Given the description of an element on the screen output the (x, y) to click on. 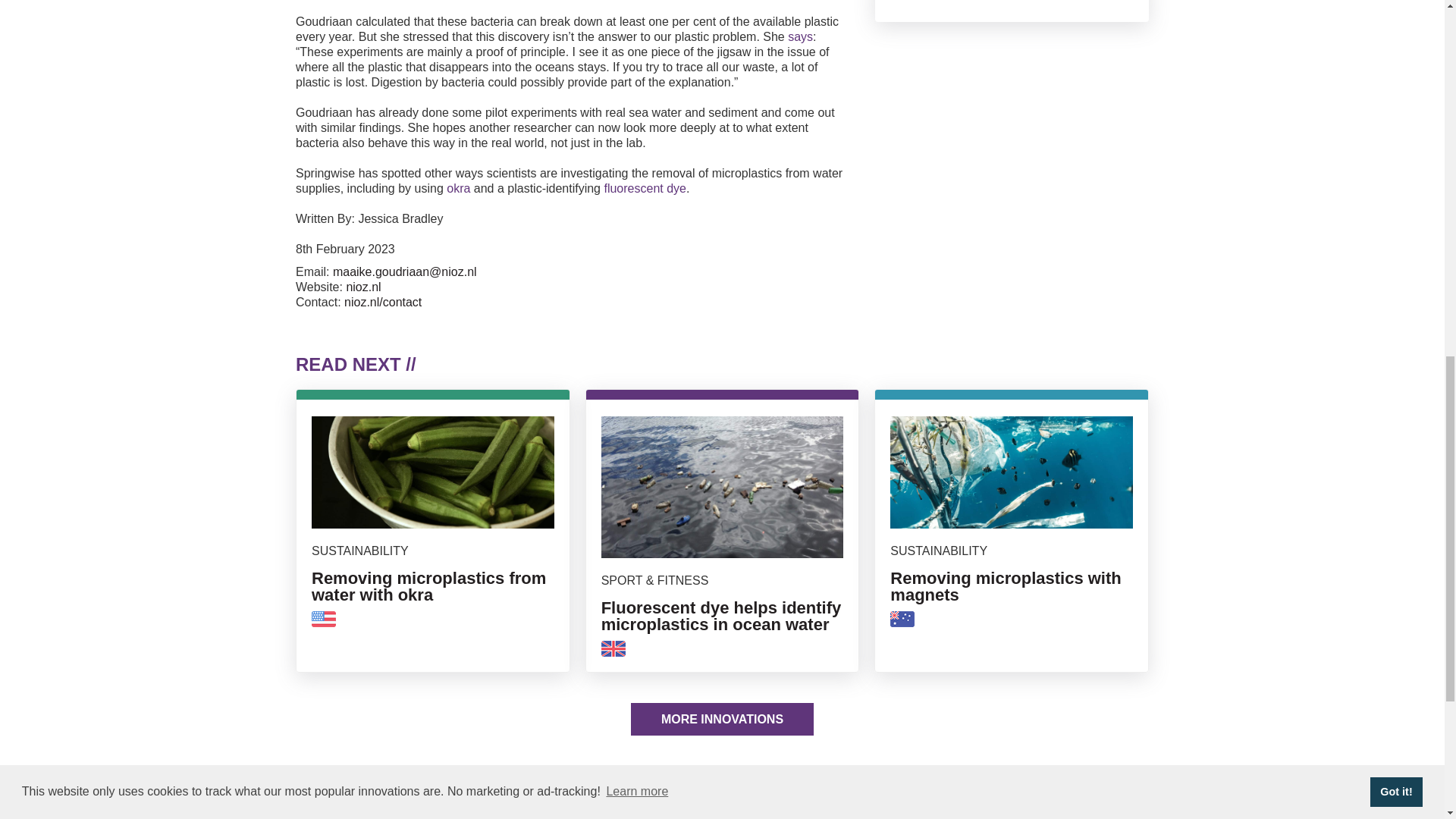
fluorescent dye (644, 187)
okra (1011, 536)
says (432, 536)
MORE INNOVATIONS (458, 187)
nioz.nl (799, 36)
